Given the description of an element on the screen output the (x, y) to click on. 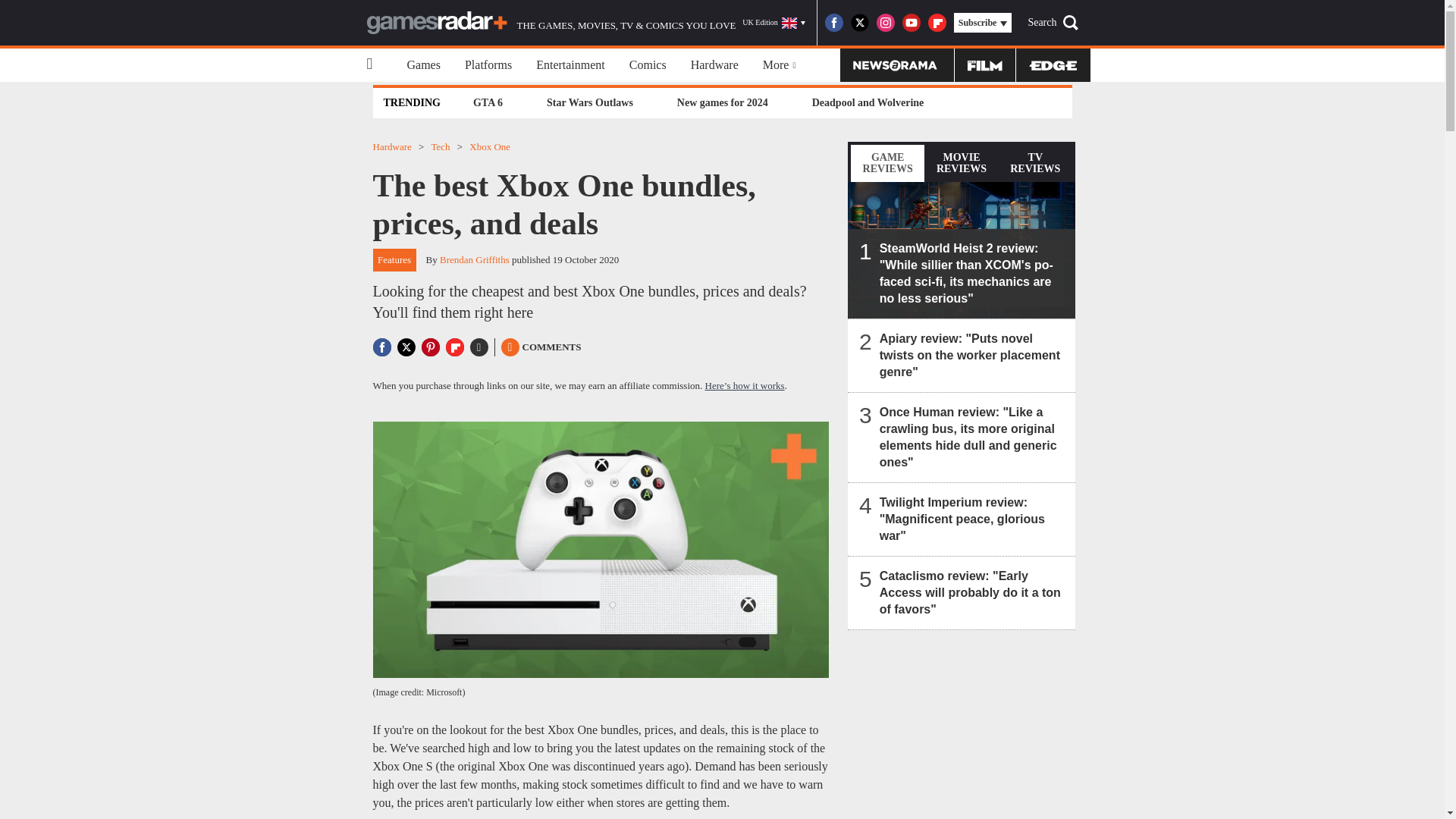
GTA 6 (487, 102)
Star Wars Outlaws (590, 102)
Hardware (714, 64)
Entertainment (570, 64)
UK Edition (773, 22)
Games (422, 64)
New games for 2024 (722, 102)
Deadpool and Wolverine (868, 102)
Comics (647, 64)
